Given the description of an element on the screen output the (x, y) to click on. 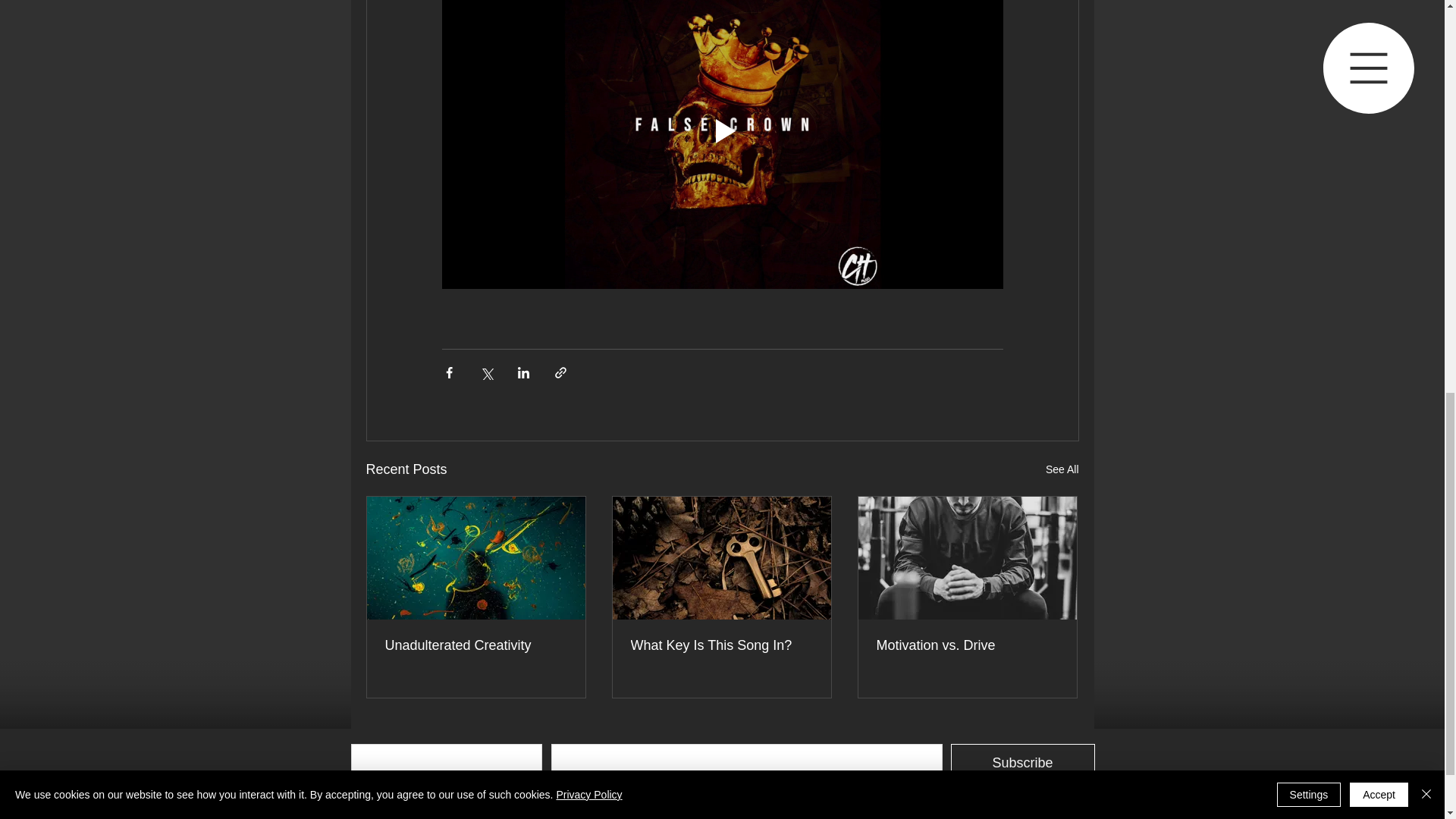
Unadulterated Creativity (476, 645)
See All (1061, 469)
What Key Is This Song In? (721, 645)
Motivation vs. Drive (967, 645)
learn more (1077, 813)
Subscribe (1022, 762)
